Given the description of an element on the screen output the (x, y) to click on. 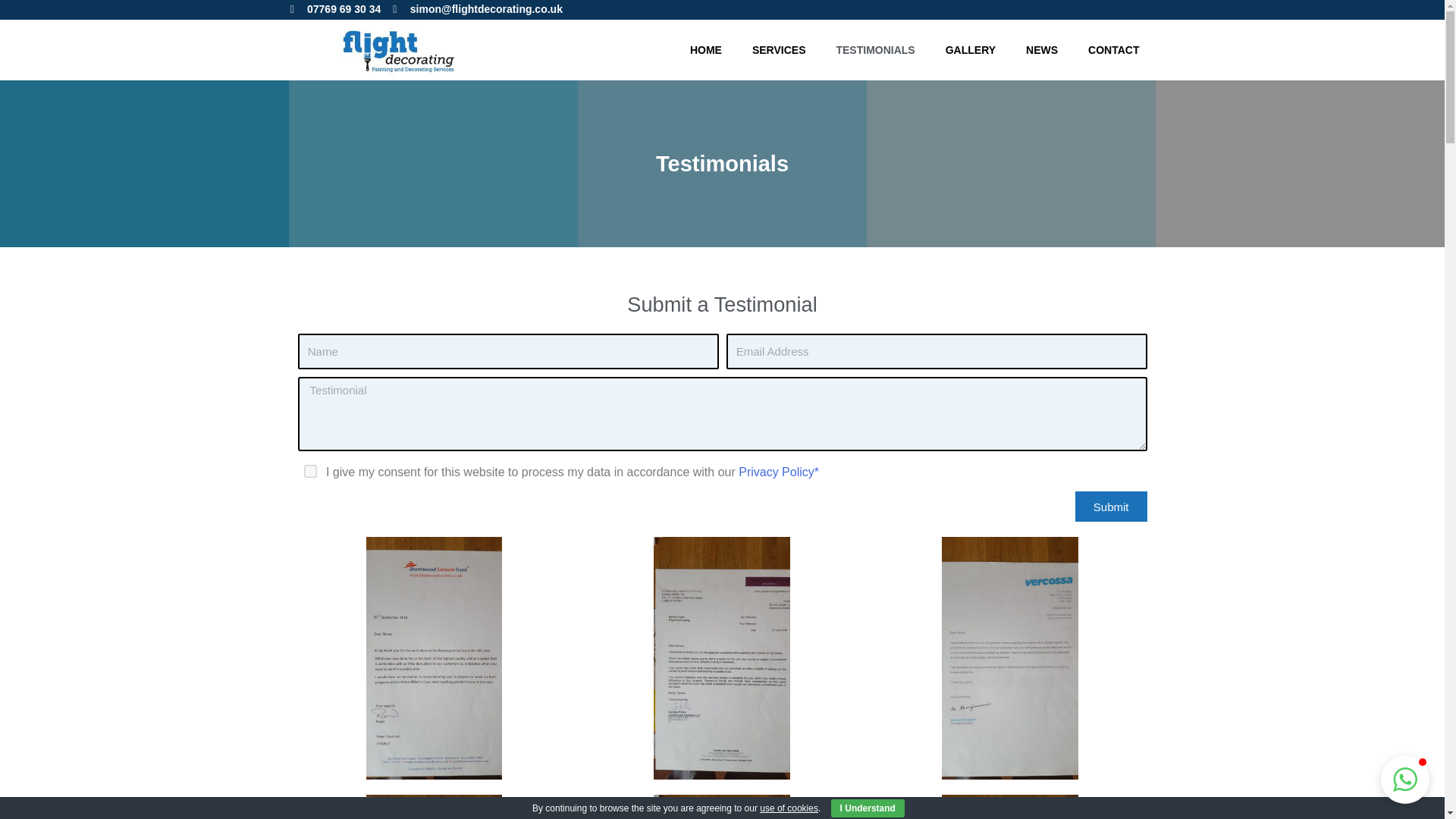
CONTACT (1113, 49)
GALLERY (970, 49)
Submit (1111, 506)
07769 69 30 34 (334, 9)
use of cookies (789, 808)
I Understand (867, 808)
TESTIMONIALS (875, 49)
NEWS (1041, 49)
SERVICES (778, 49)
on (309, 470)
